Given the description of an element on the screen output the (x, y) to click on. 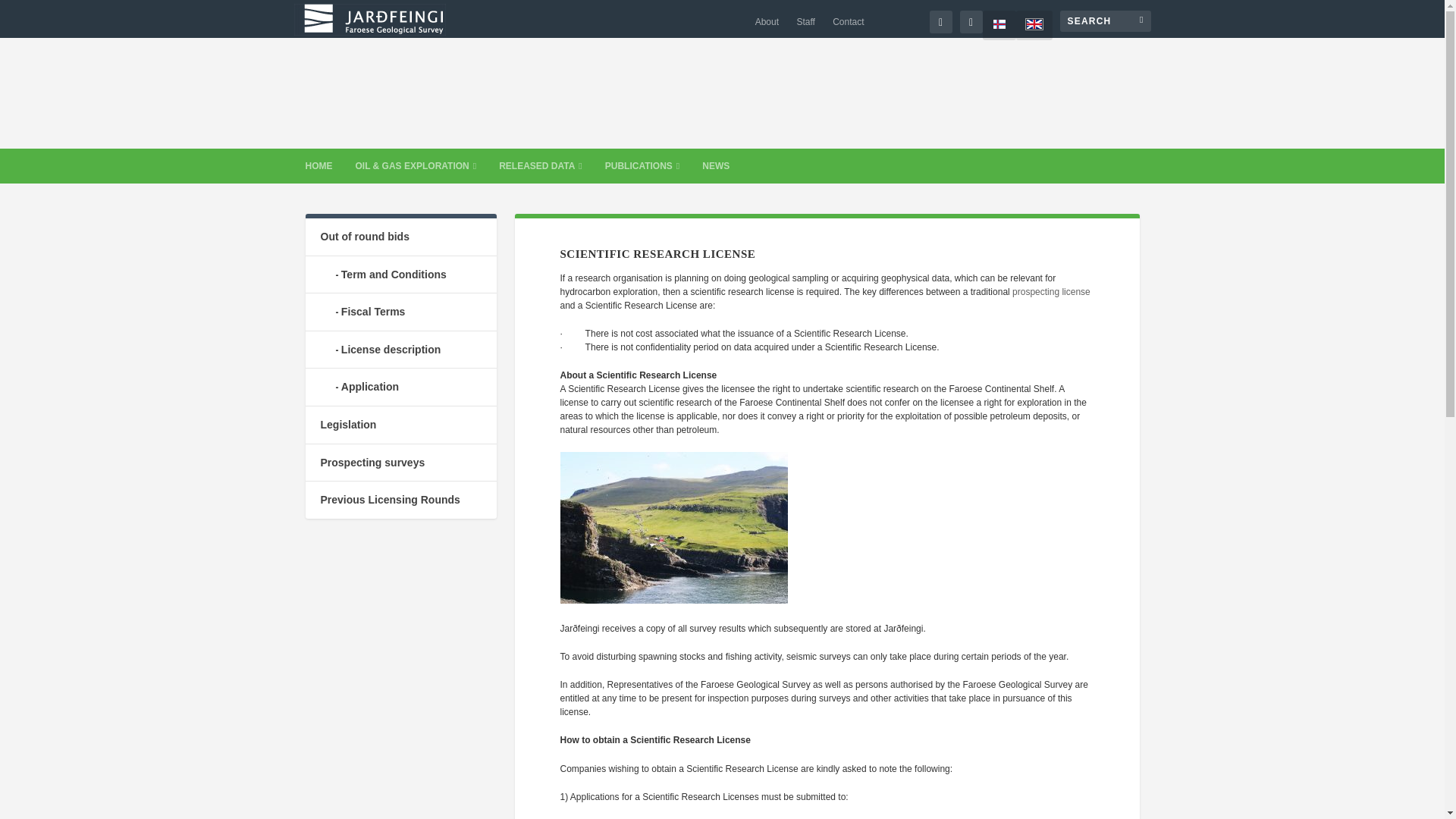
fo (999, 25)
PUBLICATIONS (642, 165)
prospecting license (1050, 291)
RELEASED DATA (540, 165)
English (1034, 25)
Search for: (1105, 20)
